Given the description of an element on the screen output the (x, y) to click on. 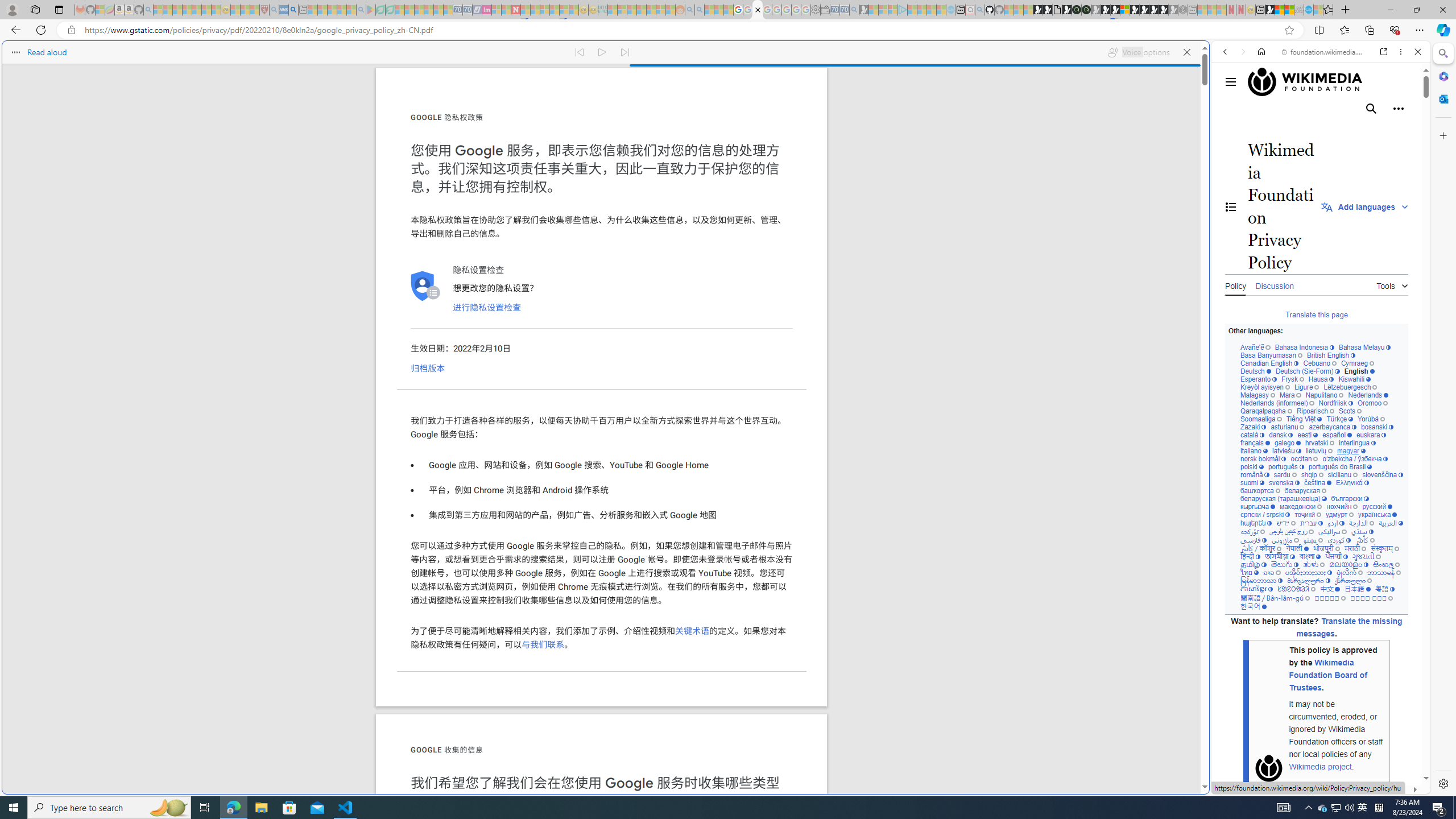
Oromoo (1372, 403)
Settings - Sleeping (815, 9)
Kinda Frugal - MSN - Sleeping (651, 9)
Mara (1290, 395)
